Given the description of an element on the screen output the (x, y) to click on. 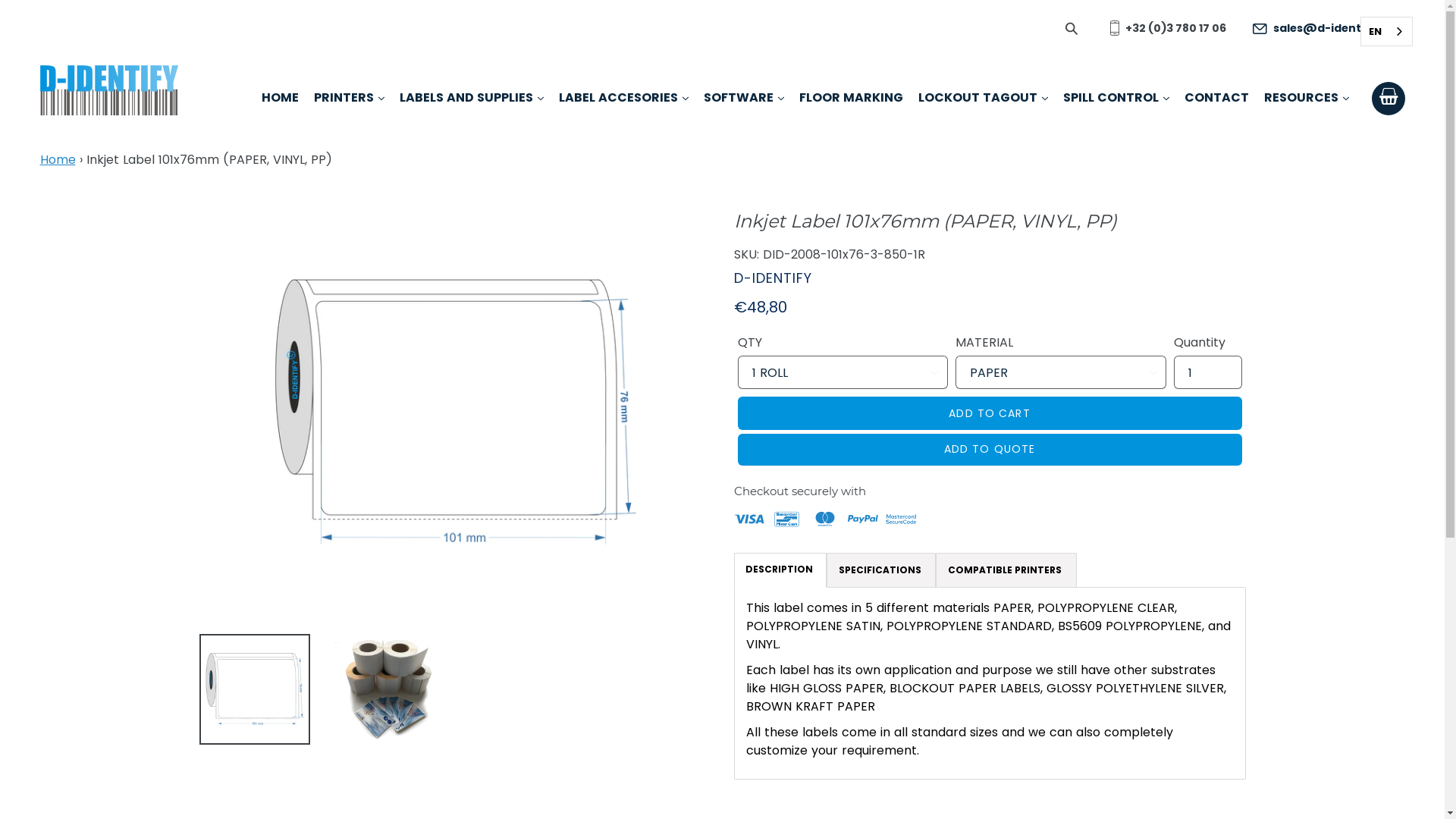
ADD TO QUOTE Element type: text (989, 449)
EN Element type: text (1385, 31)
FLOOR MARKING Element type: text (851, 98)
Home Element type: text (57, 159)
+32 (0)3 780 17 06 Element type: text (1164, 27)
ADD TO CART Element type: text (989, 412)
sales@d-identify.be Element type: text (1322, 27)
HOME Element type: text (279, 98)
Submit Element type: text (1072, 27)
CONTACT Element type: text (1216, 98)
